Given the description of an element on the screen output the (x, y) to click on. 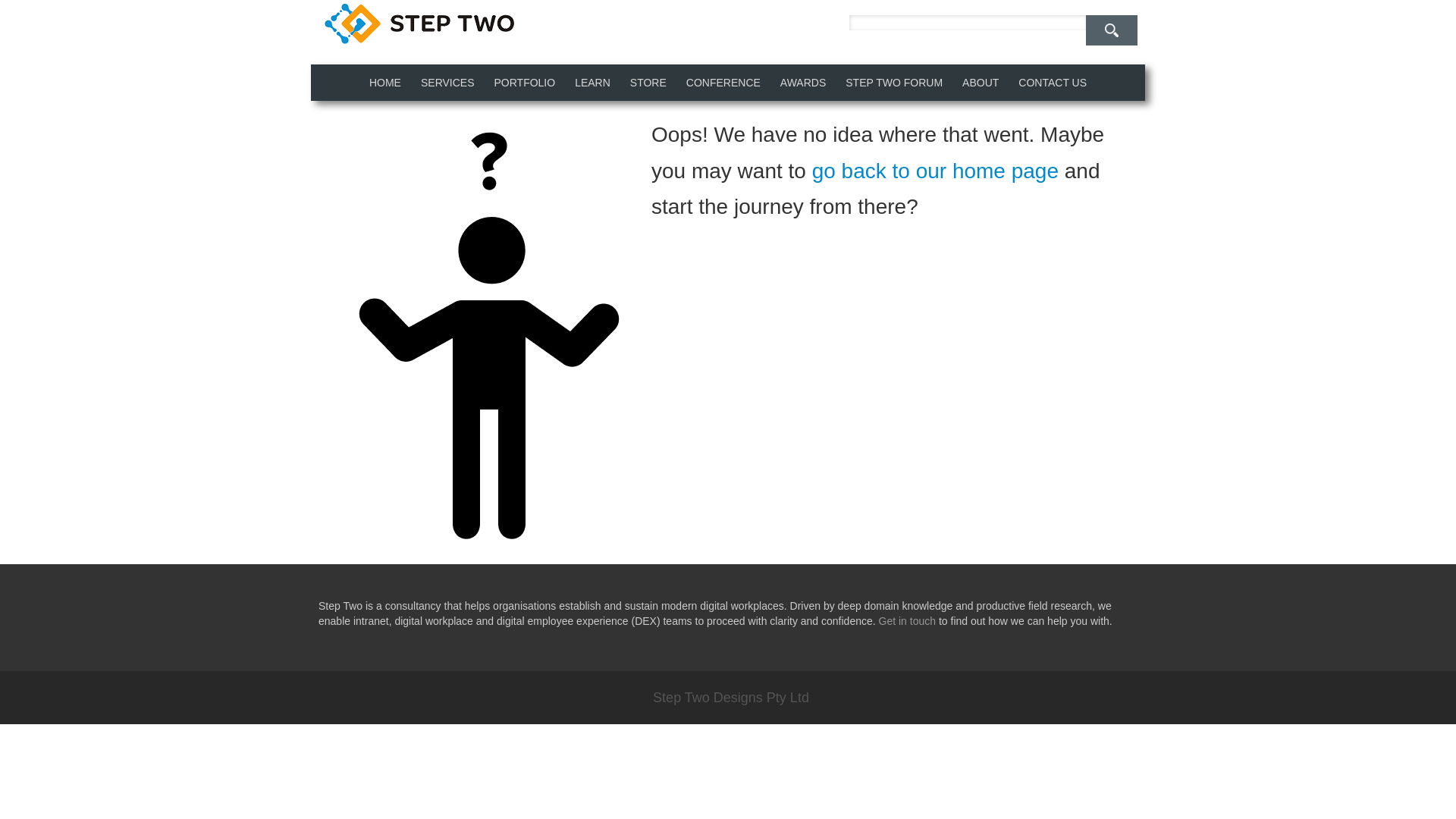
AWARDS (802, 82)
STEP TWO FORUM (893, 82)
Search (1111, 30)
LEARN (592, 82)
STORE (648, 82)
Search (1111, 30)
CONFERENCE (723, 82)
SERVICES (447, 82)
PORTFOLIO (523, 82)
CONTACT US (1052, 82)
